Given the description of an element on the screen output the (x, y) to click on. 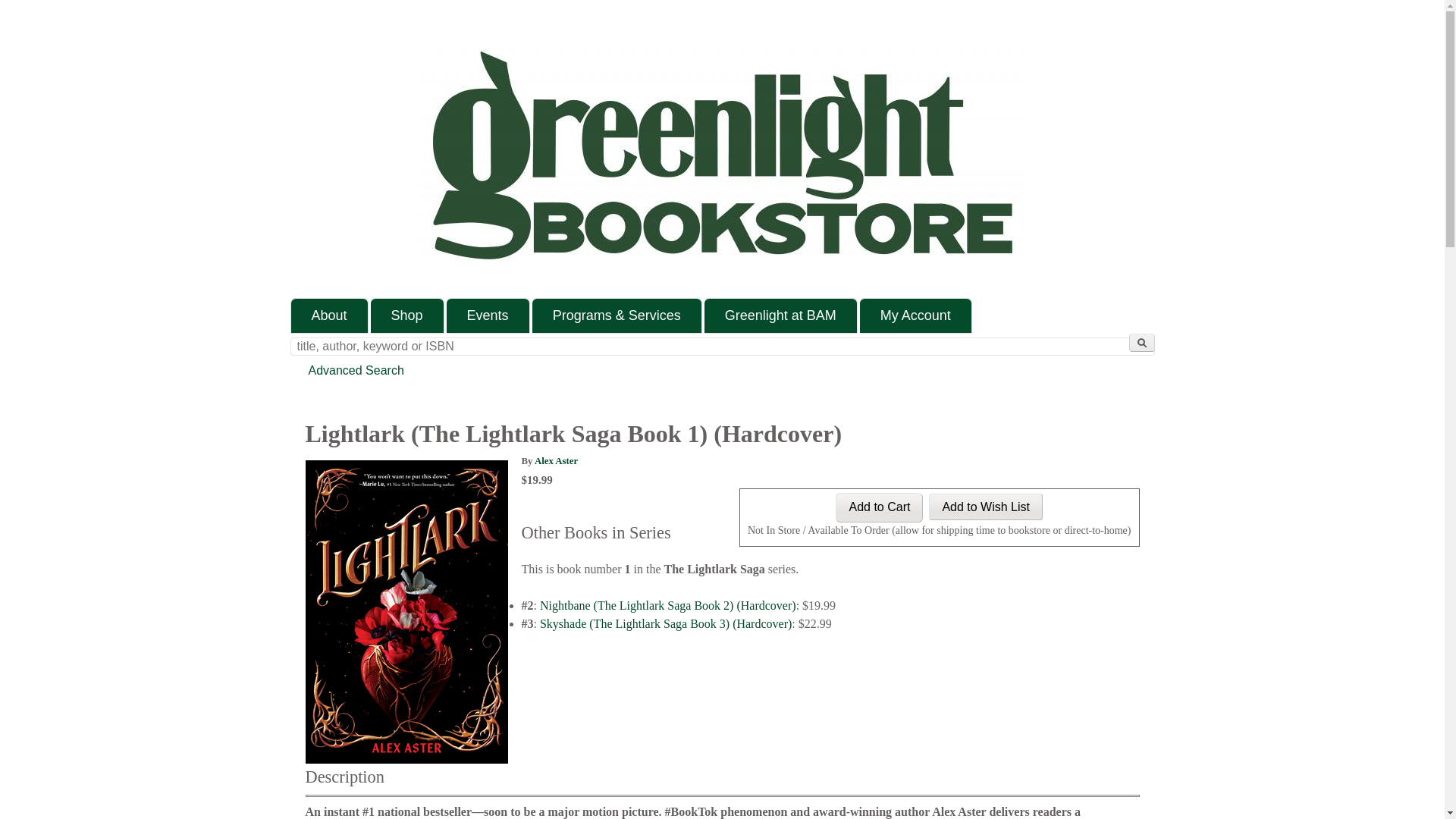
About (329, 315)
Add to Cart (879, 507)
Search (1141, 342)
Shop (407, 315)
